Given the description of an element on the screen output the (x, y) to click on. 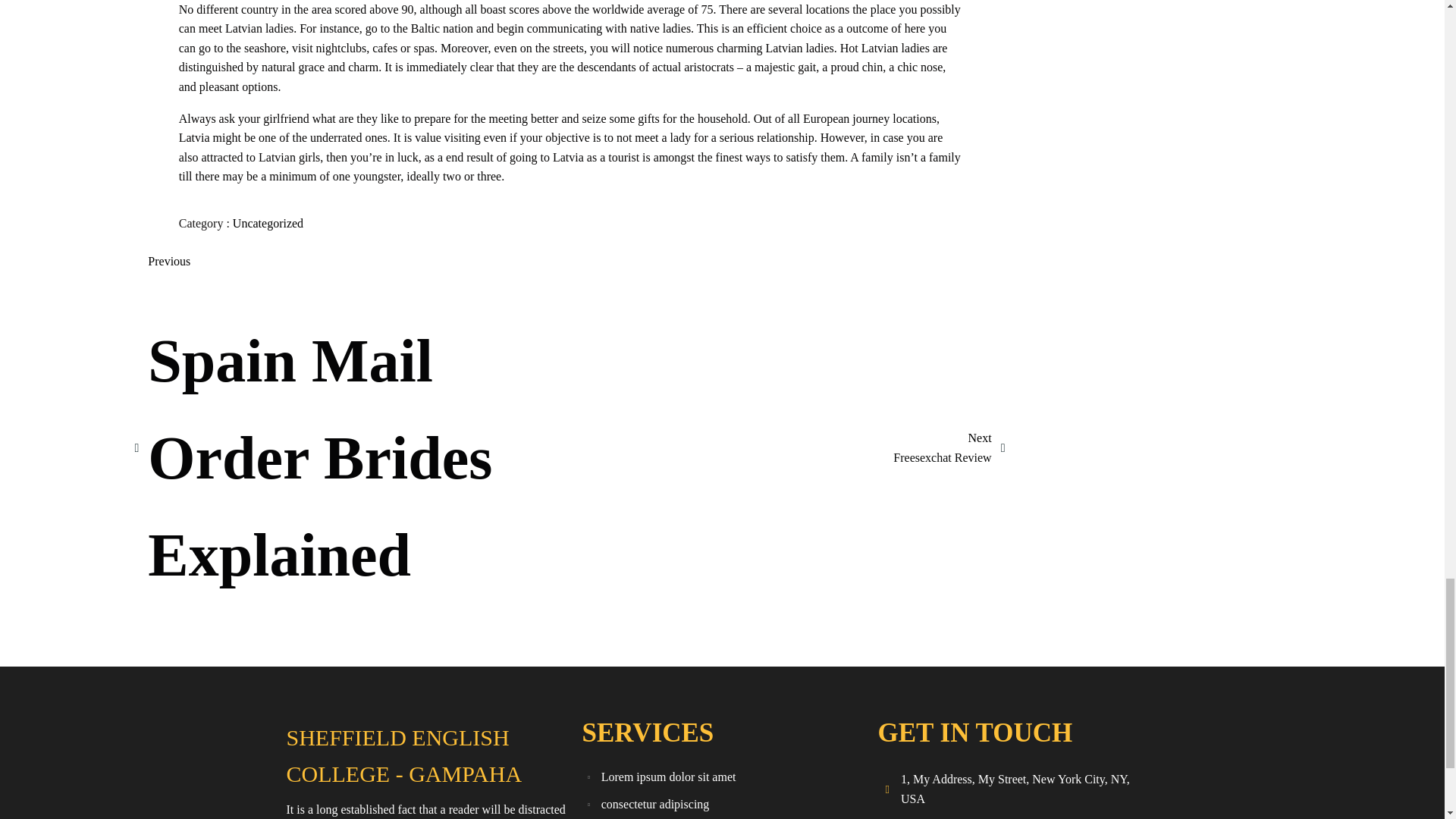
Lorem ipsum dolor sit amet (722, 777)
SHEFFIELD ENGLISH COLLEGE - GAMPAHA (426, 755)
Uncategorized (948, 447)
